Given the description of an element on the screen output the (x, y) to click on. 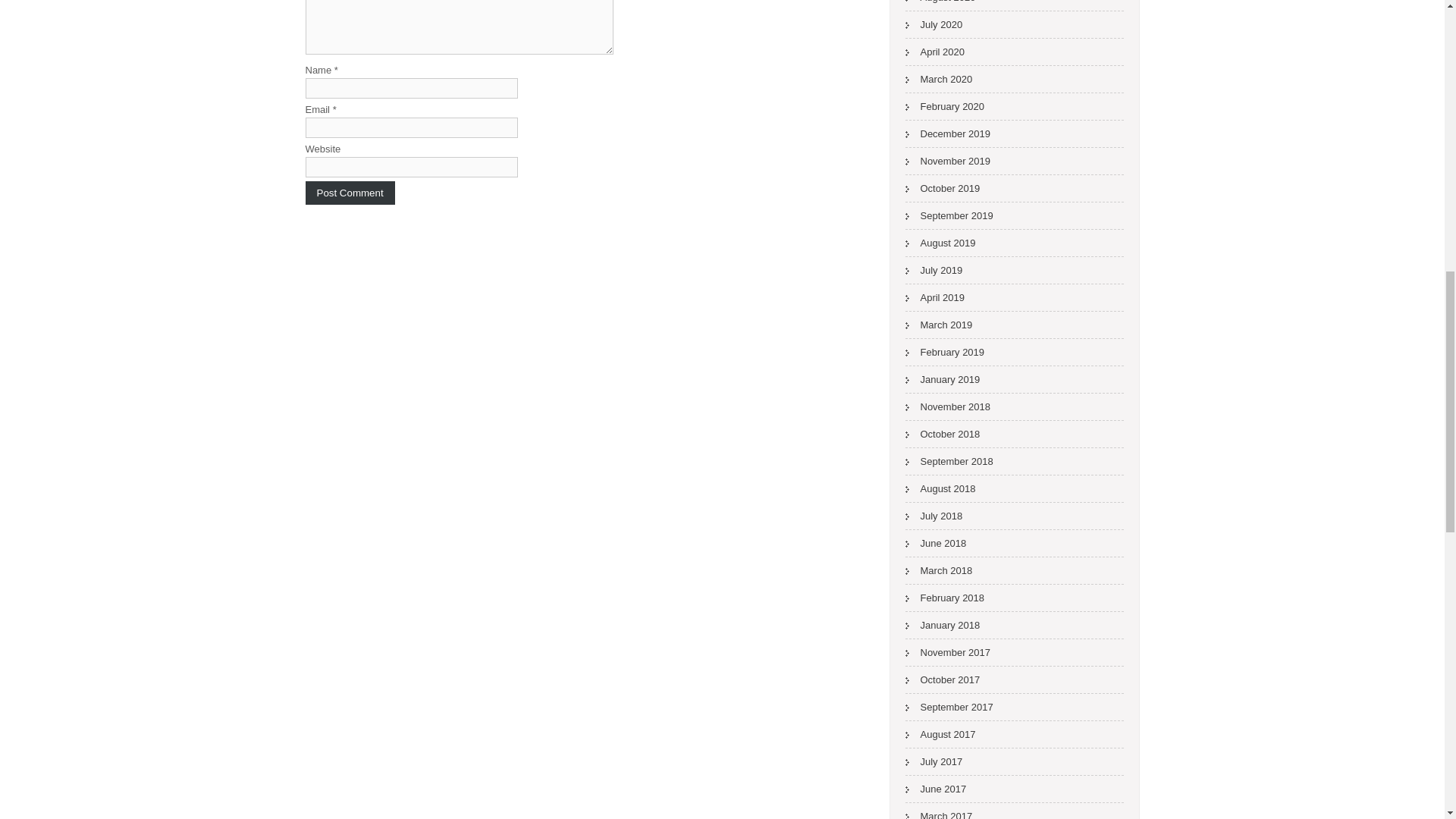
July 2020 (933, 24)
Post Comment (349, 192)
August 2020 (940, 5)
Post Comment (349, 192)
